Given the description of an element on the screen output the (x, y) to click on. 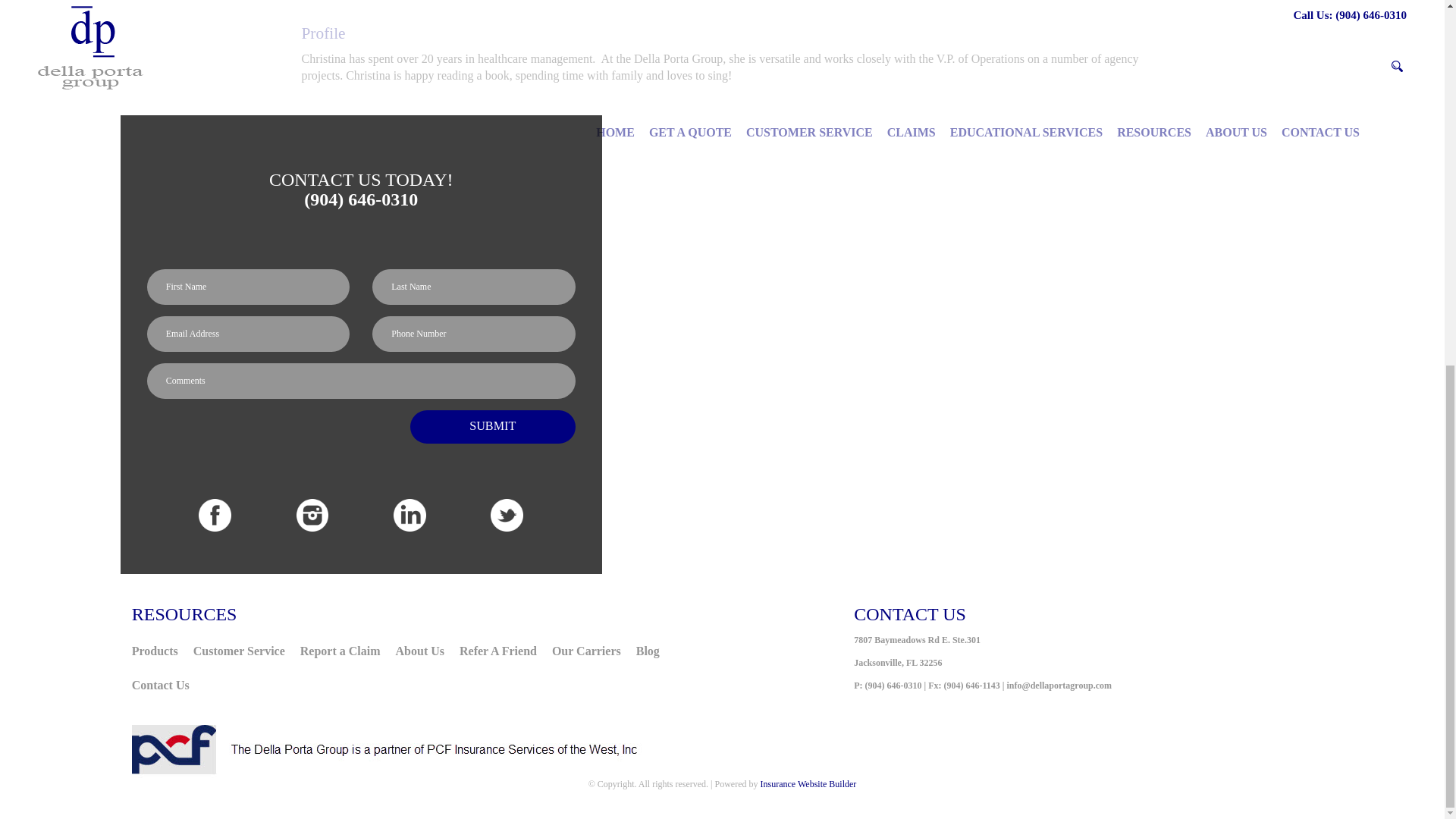
GET A QUOTE (689, 132)
Insurance Website Builder (808, 783)
CUSTOMER SERVICE (809, 132)
HOME (615, 132)
